Given the description of an element on the screen output the (x, y) to click on. 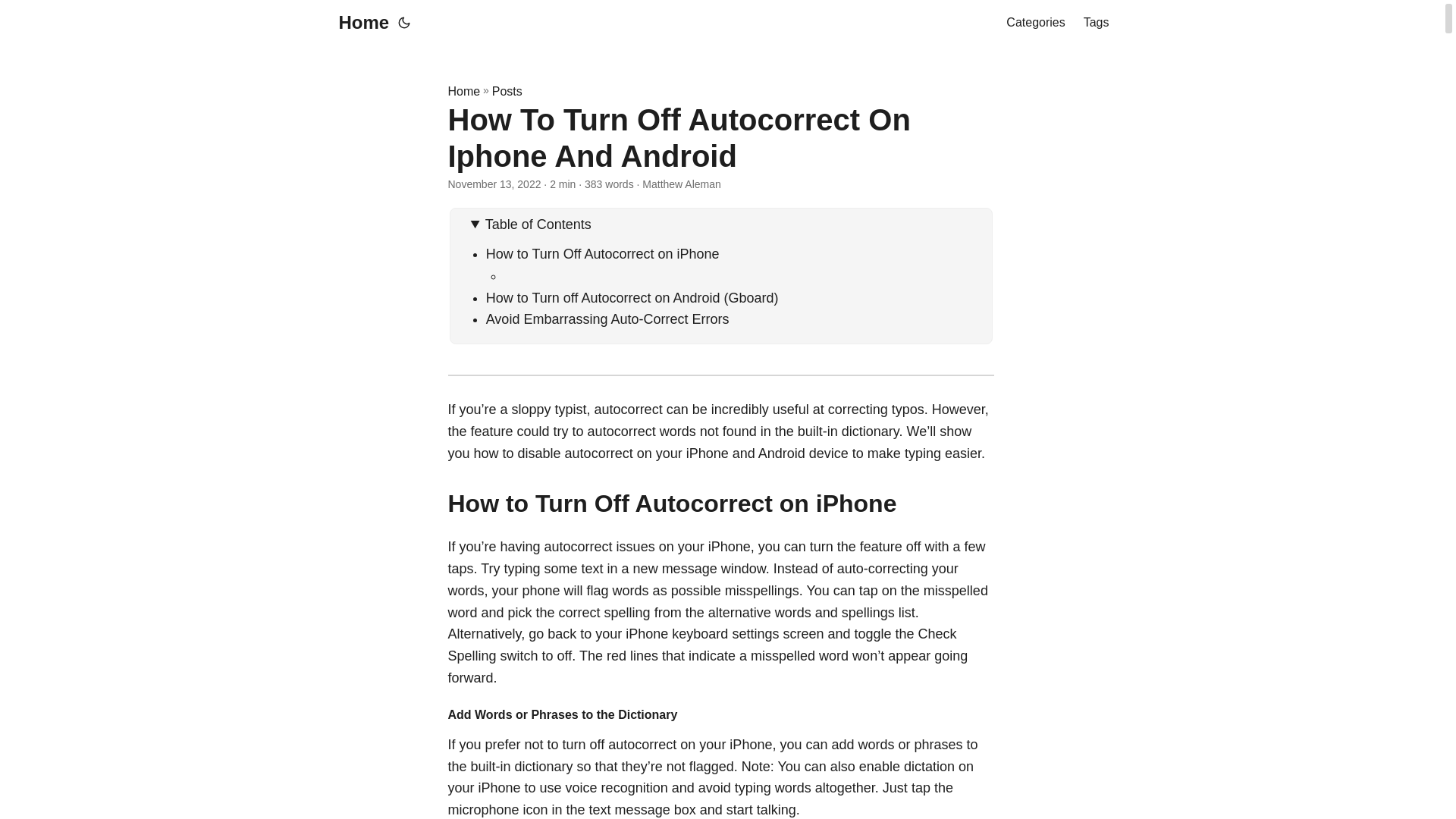
Posts (507, 91)
Home (359, 22)
Avoid Embarrassing Auto-Correct Errors (607, 319)
Home (463, 91)
Categories (1035, 22)
Categories (1035, 22)
How to Turn Off Autocorrect on iPhone (602, 253)
